Given the description of an element on the screen output the (x, y) to click on. 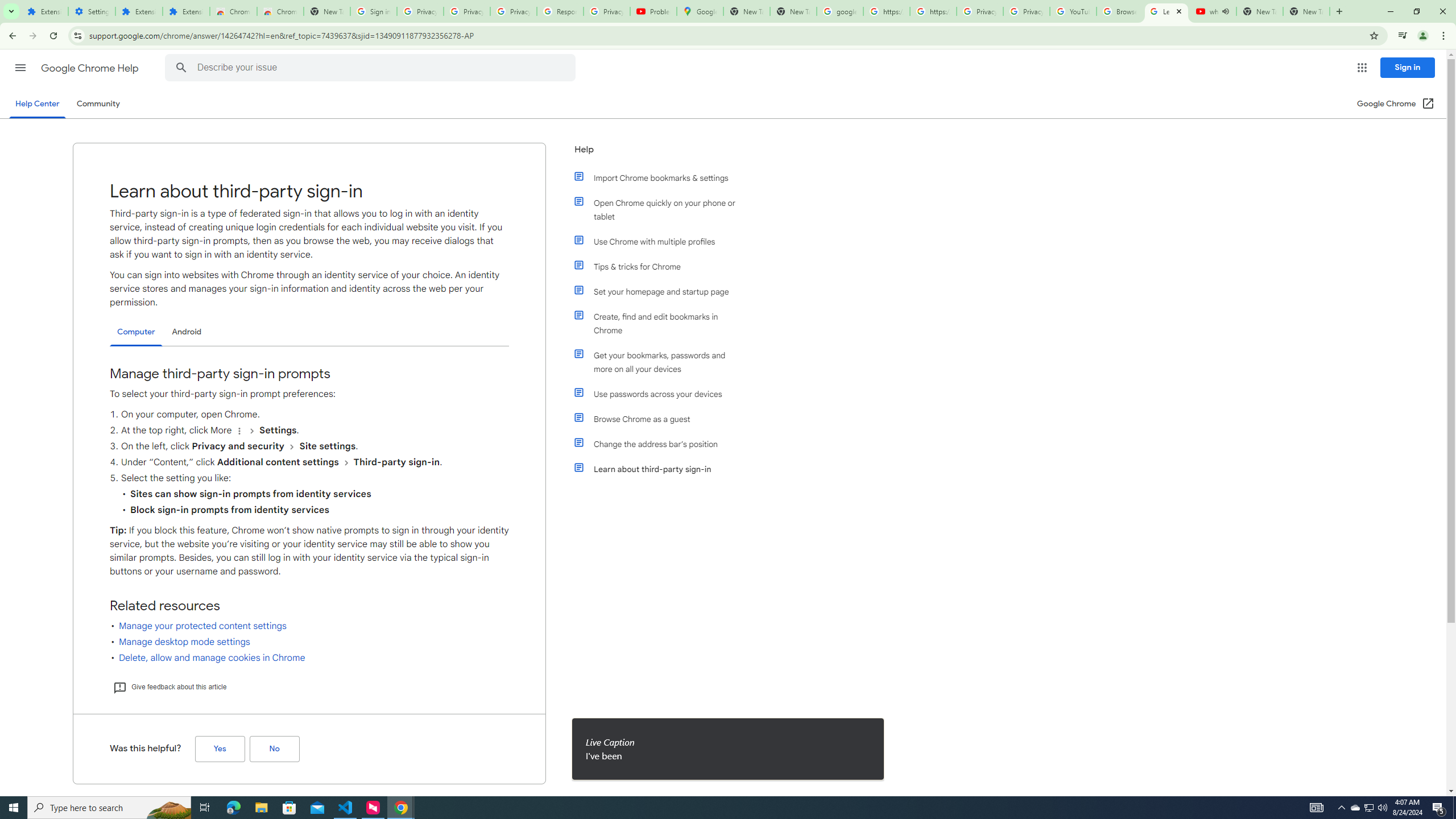
Android (186, 331)
Organize (239, 430)
Describe your issue (371, 67)
Extensions (186, 11)
